Given the description of an element on the screen output the (x, y) to click on. 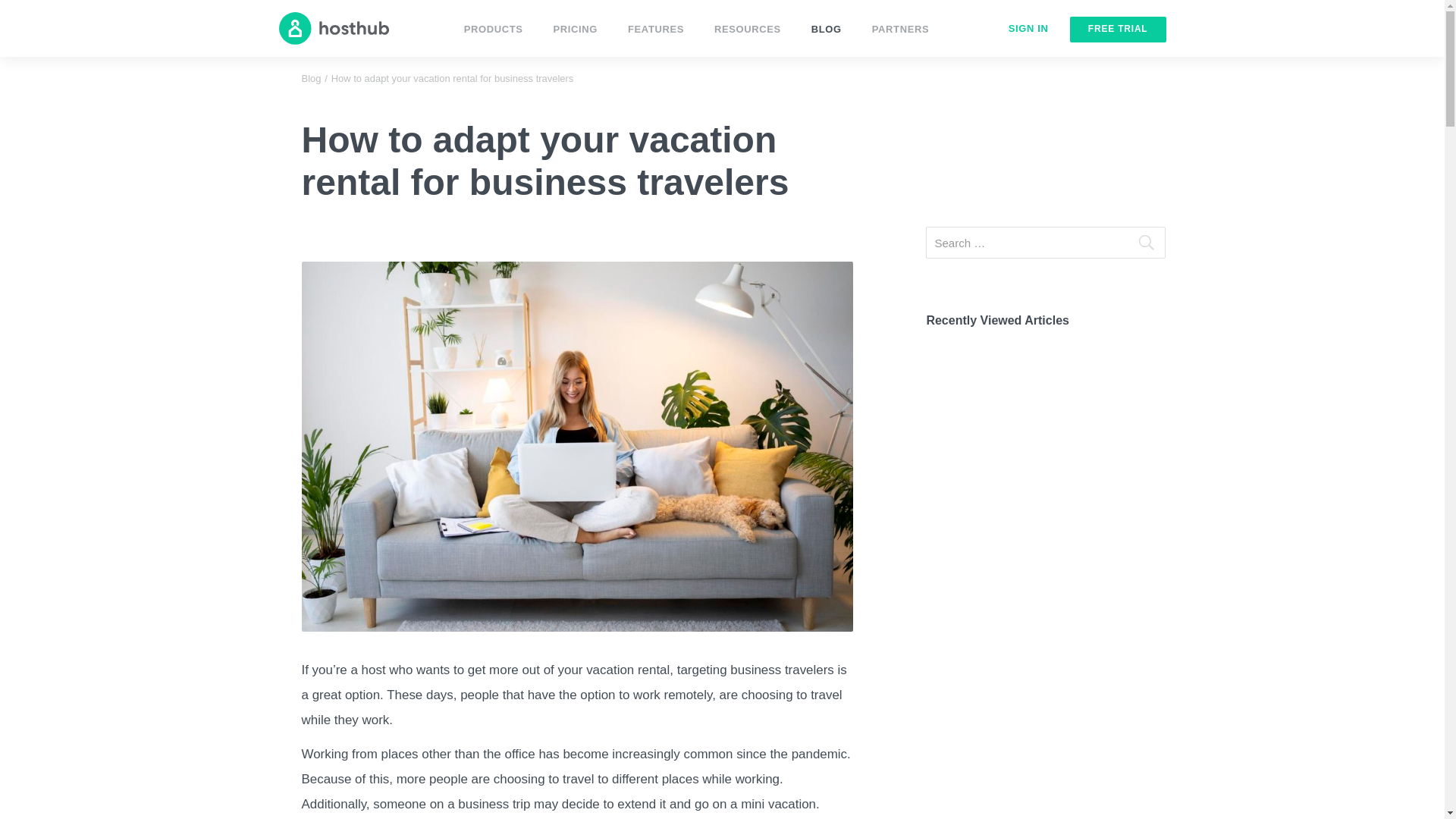
SIGN IN (1028, 29)
How to adapt your vacation rental for business travelers (452, 78)
FREE TRIAL (1118, 28)
PARTNERS (900, 31)
BLOG (825, 31)
PRICING (574, 31)
Blog (311, 78)
Search for: (1046, 242)
